Given the description of an element on the screen output the (x, y) to click on. 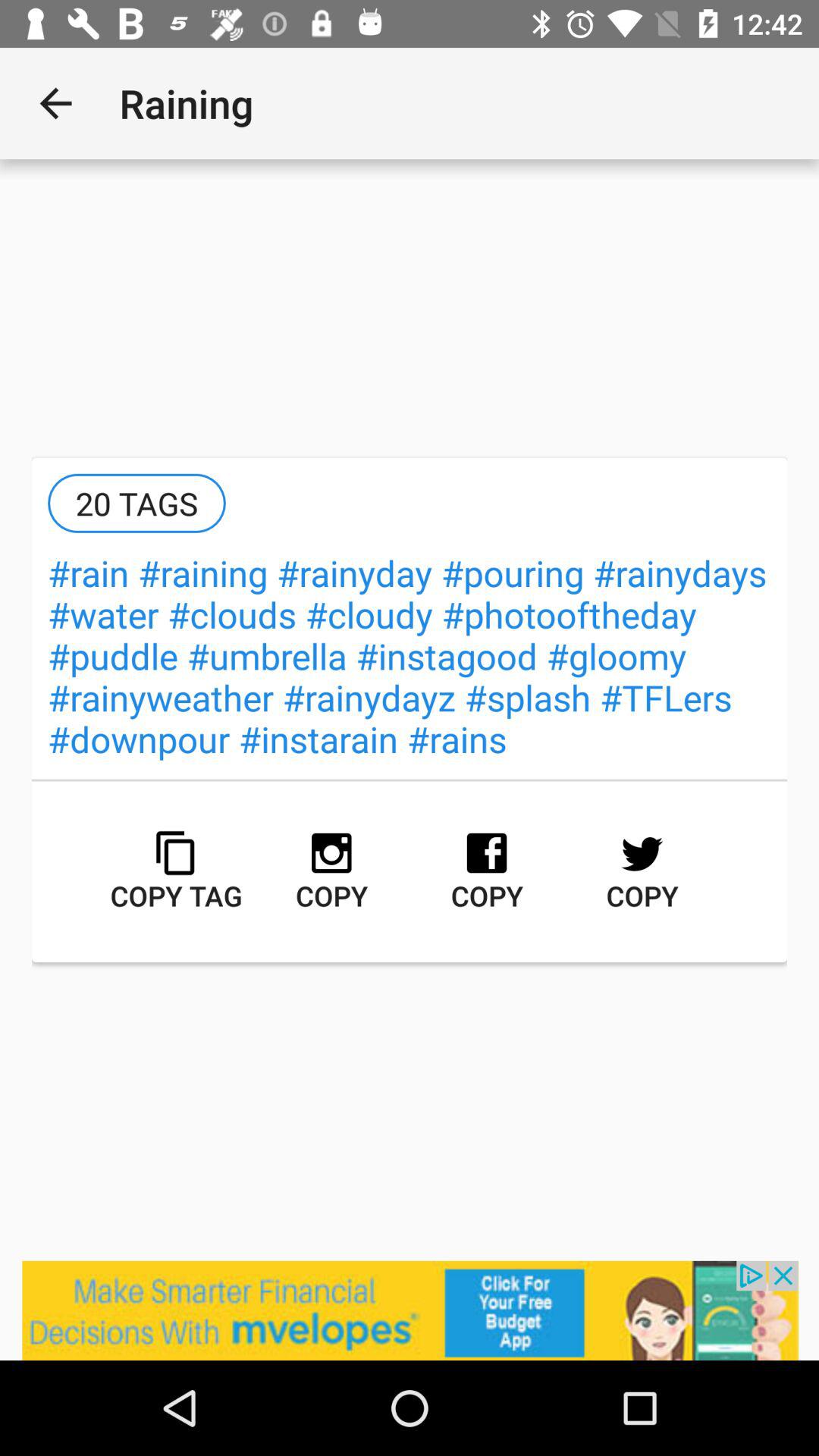
go to advertisement (409, 1310)
